Given the description of an element on the screen output the (x, y) to click on. 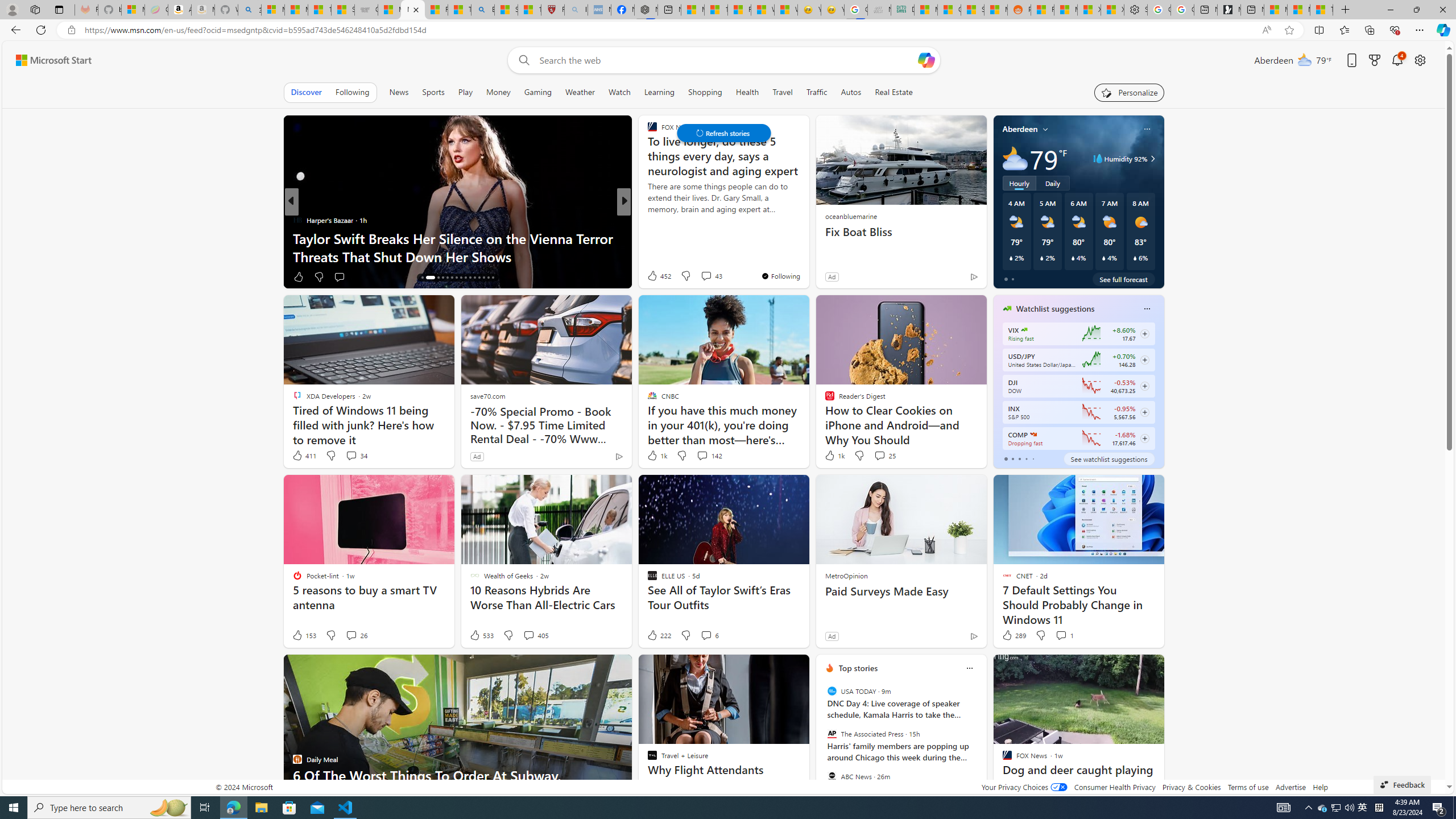
View comments 6 Comment (705, 635)
View comments 34 Comment (355, 455)
14 Common Myths Debunked By Scientific Facts (715, 9)
323 Like (654, 276)
View comments 58 Comment (698, 276)
R******* | Trusted Community Engagement and Contributions (1042, 9)
MetroOpinion (845, 574)
